Given the description of an element on the screen output the (x, y) to click on. 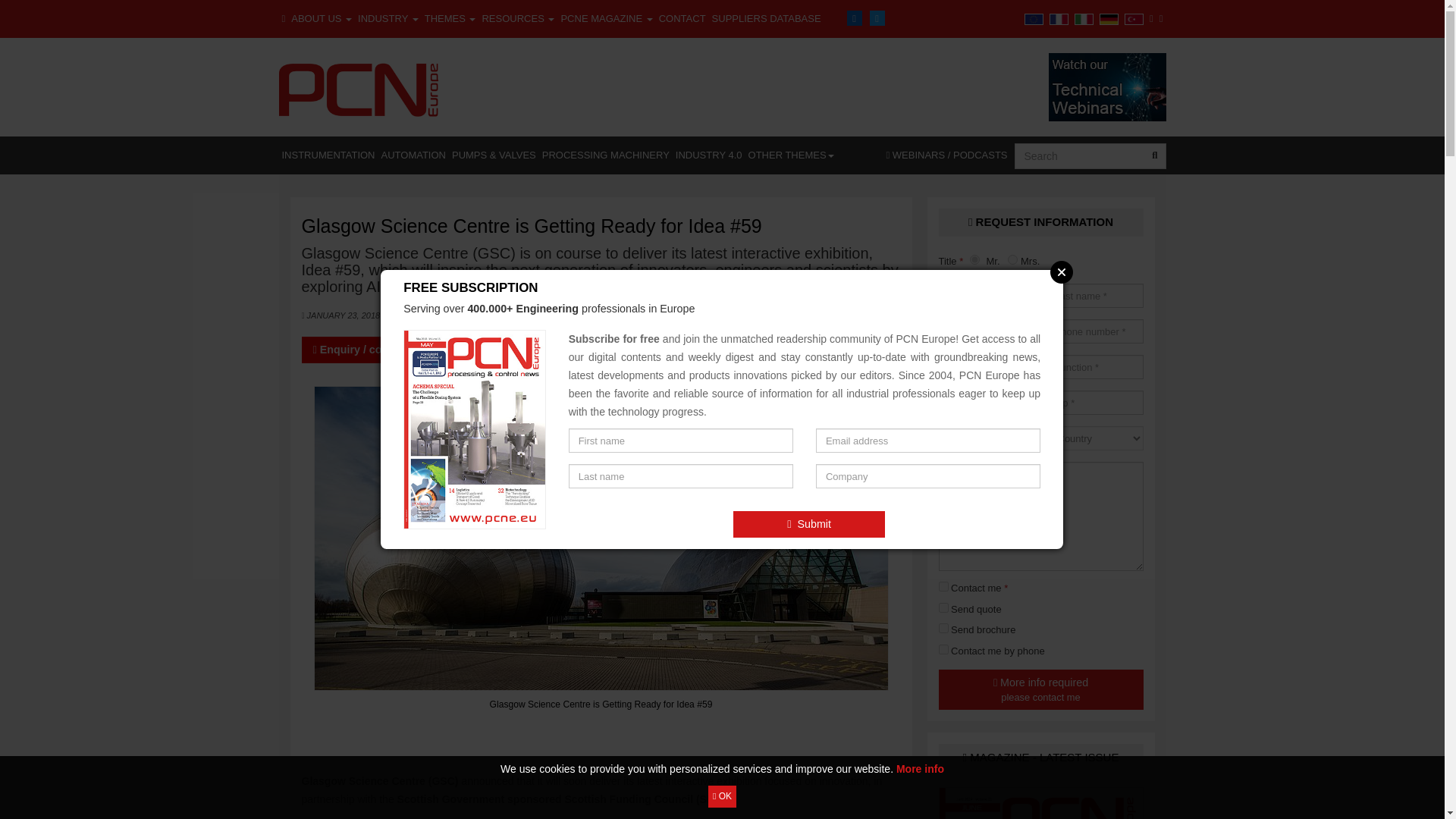
INDUSTRY (388, 18)
enquireForm.options.003 (944, 649)
Mr (974, 259)
enquireForm.options.001 (944, 628)
Mrs (1012, 259)
Themes (450, 18)
Industry (388, 18)
1 (944, 586)
enquireForm.options.002 (944, 607)
RESOURCES (518, 18)
More info (919, 768)
ABOUT US (321, 18)
Home (283, 18)
THEMES (450, 18)
PCNE MAGAZINE (606, 18)
